Given the description of an element on the screen output the (x, y) to click on. 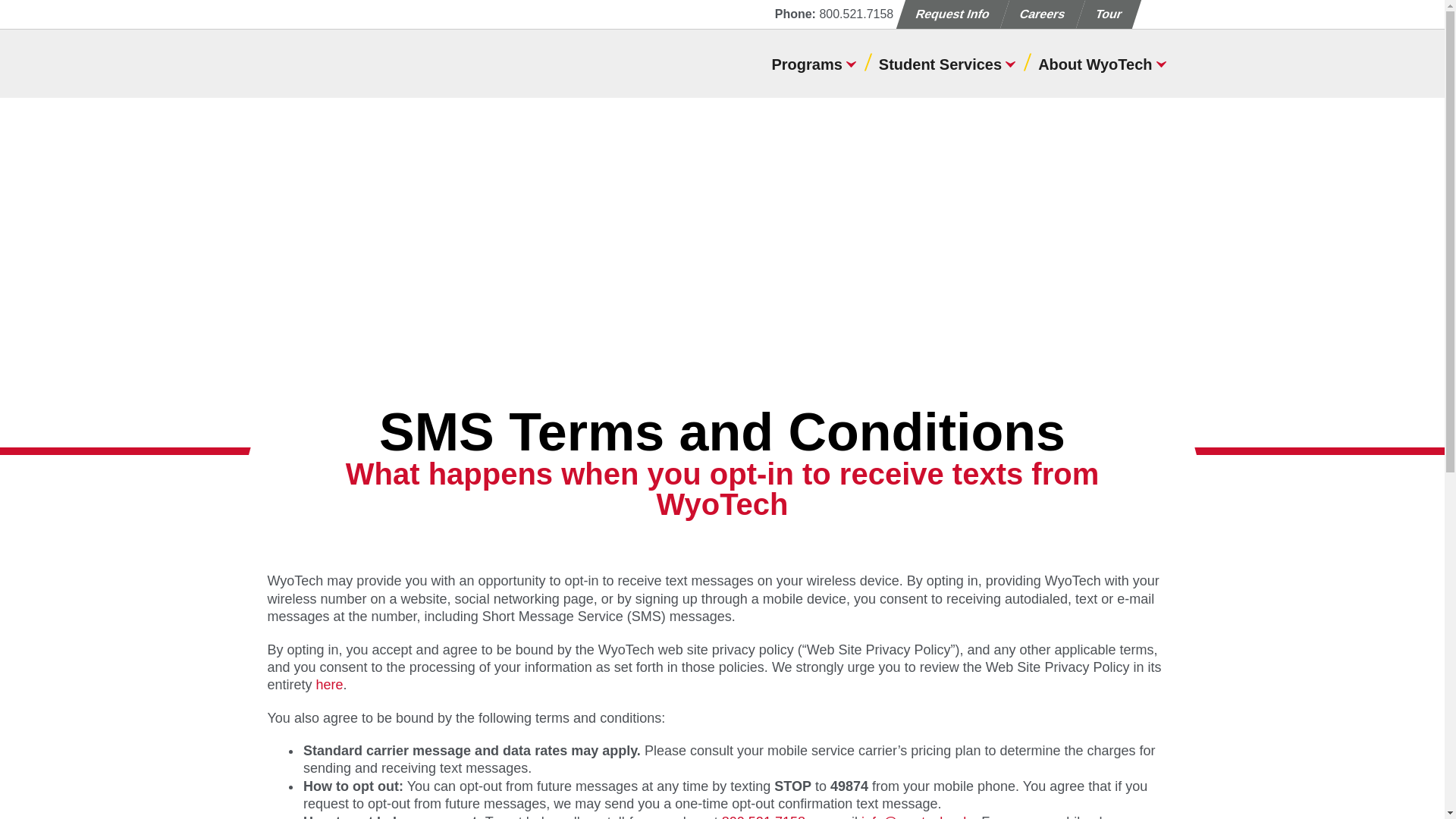
Search (1156, 14)
WyoTech (363, 63)
Student Services (946, 61)
Careers (1037, 14)
Request Info (948, 14)
Tour (1103, 14)
800.521.7158 (855, 13)
Programs (813, 61)
